Given the description of an element on the screen output the (x, y) to click on. 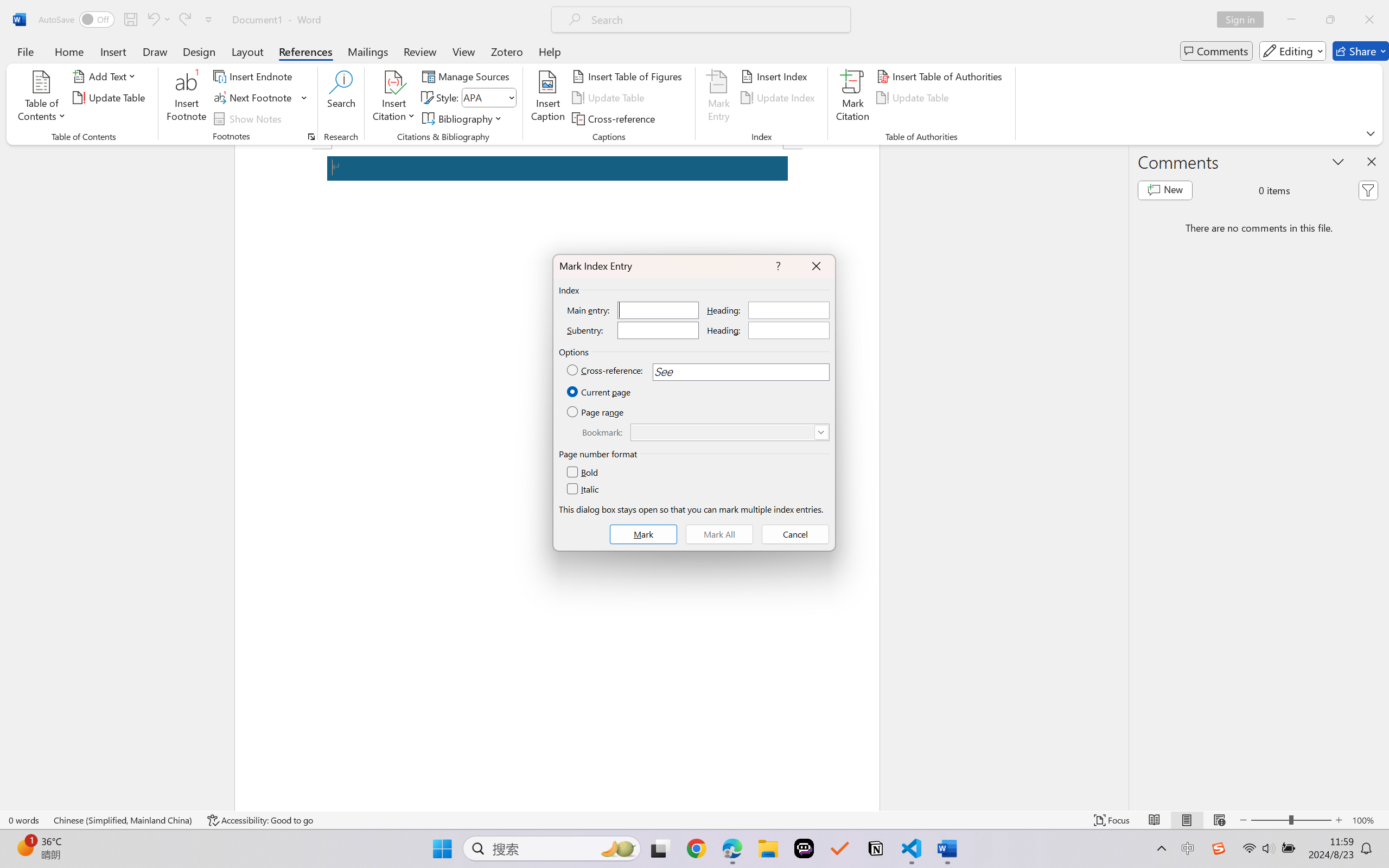
Insert Index... (775, 75)
Style (488, 97)
Sign in (1244, 19)
Table of Contents (42, 97)
Bookmark: (729, 431)
